Given the description of an element on the screen output the (x, y) to click on. 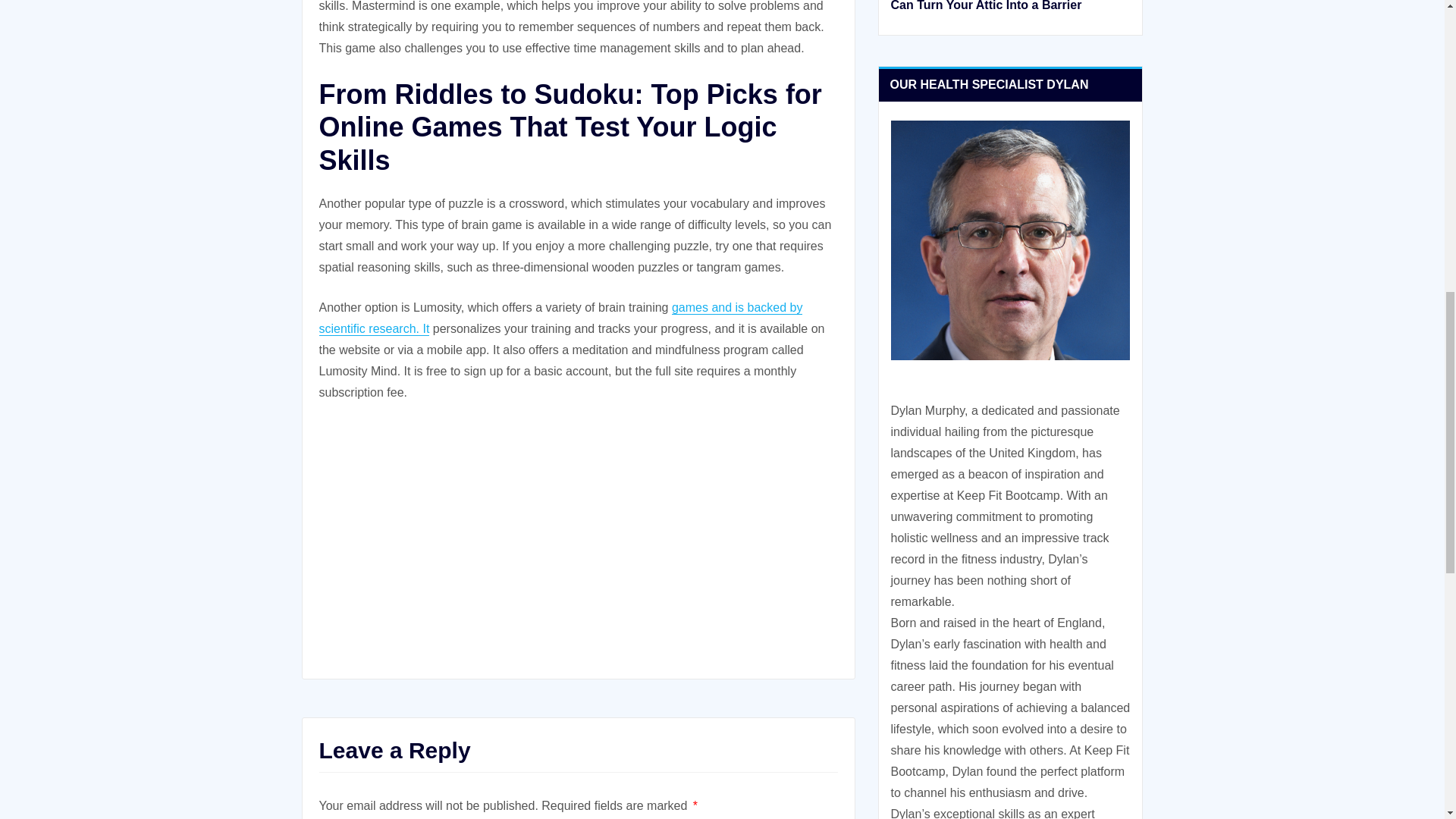
games and is backed by scientific research. It (560, 317)
